Given the description of an element on the screen output the (x, y) to click on. 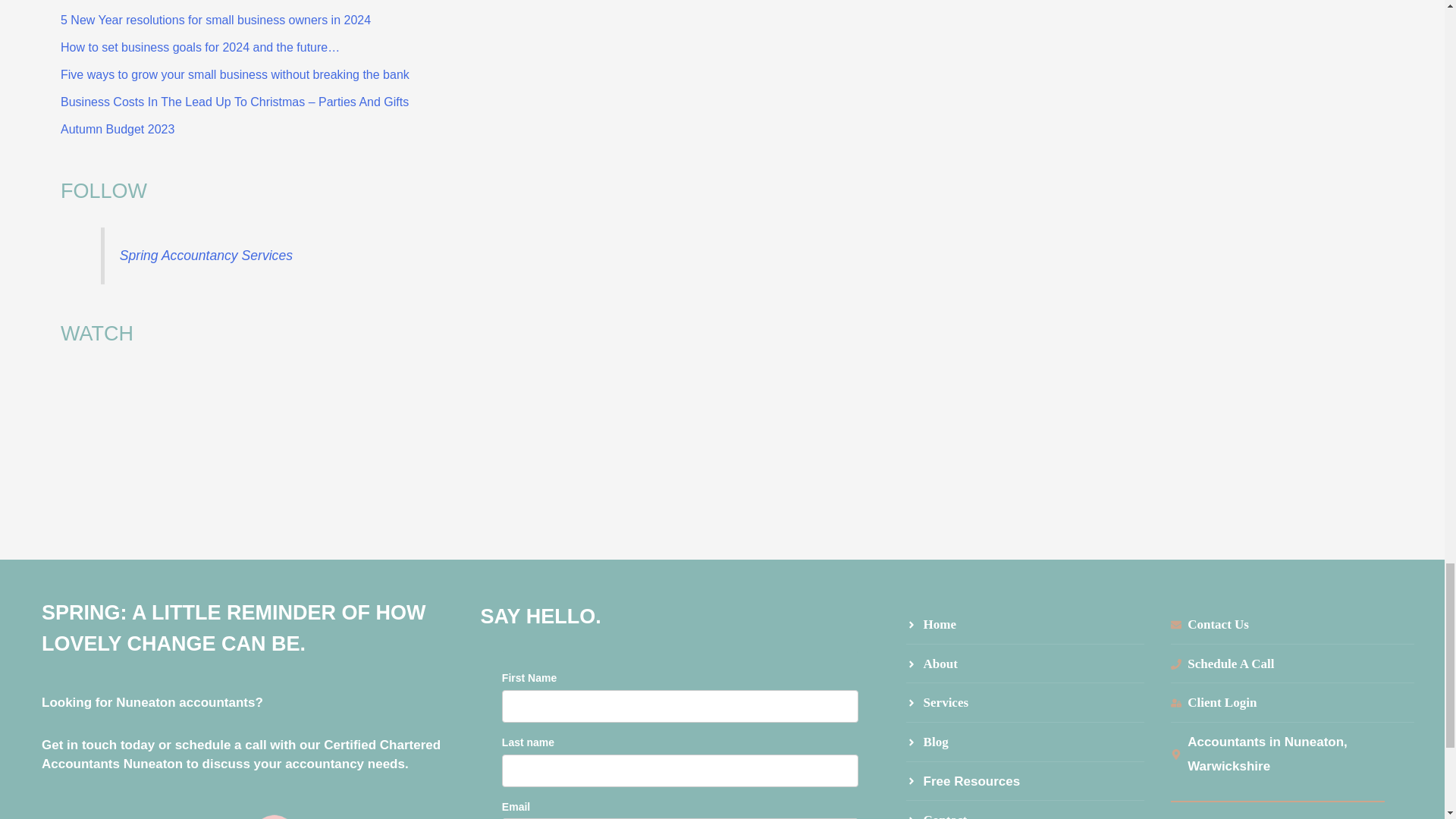
5 New Year resolutions for small business owners in 2024 (216, 19)
Spring Accountancy Services (205, 255)
Home (1024, 624)
Autumn Budget 2023 (117, 128)
